Given the description of an element on the screen output the (x, y) to click on. 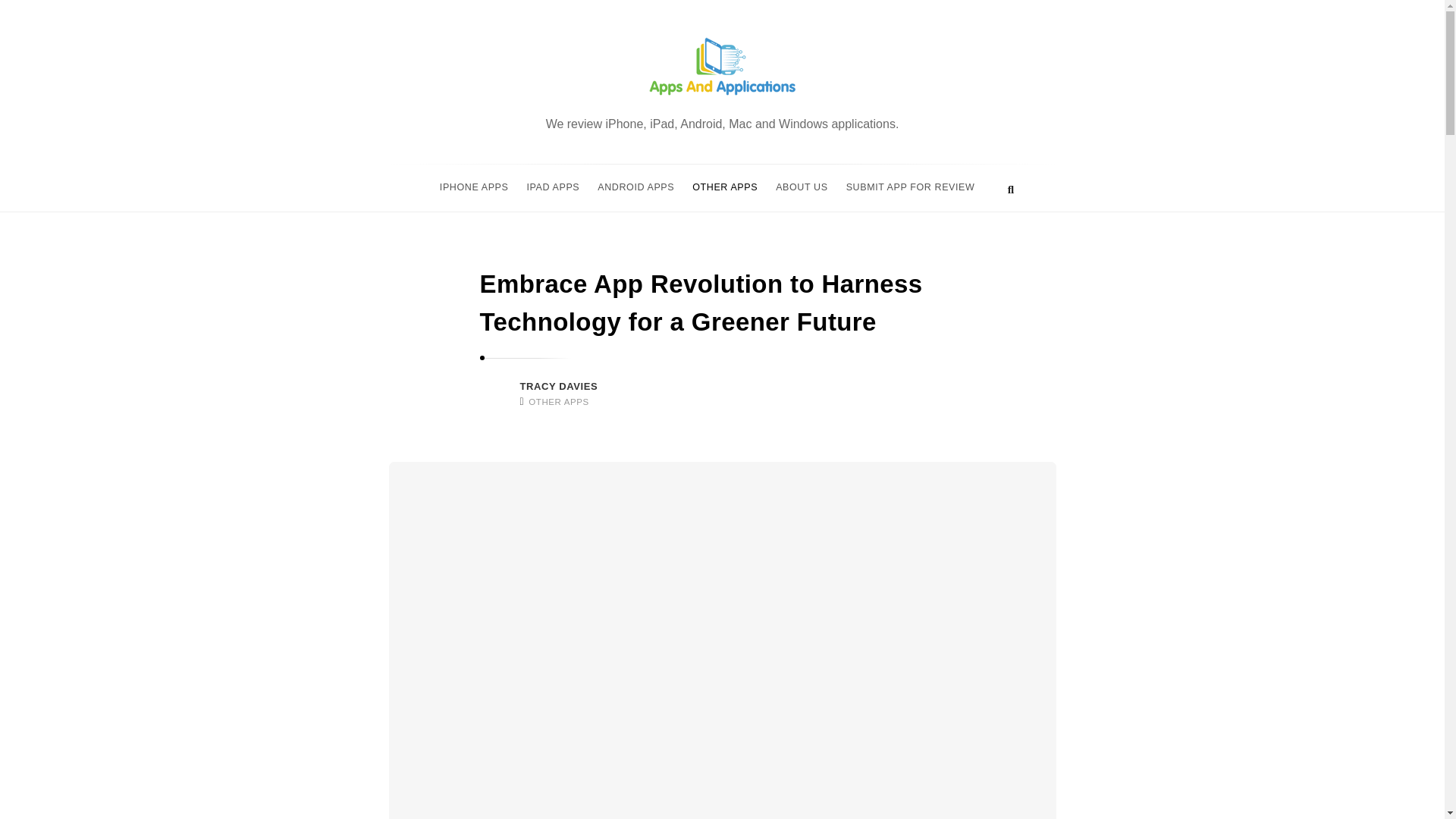
IPHONE APPS (474, 187)
AppsandApplications (721, 66)
SUBMIT APP FOR REVIEW (910, 187)
TRACY DAVIES (558, 386)
ABOUT US (801, 187)
OTHER APPS (724, 187)
IPAD APPS (552, 187)
OTHER APPS (558, 401)
ANDROID APPS (635, 187)
